Given the description of an element on the screen output the (x, y) to click on. 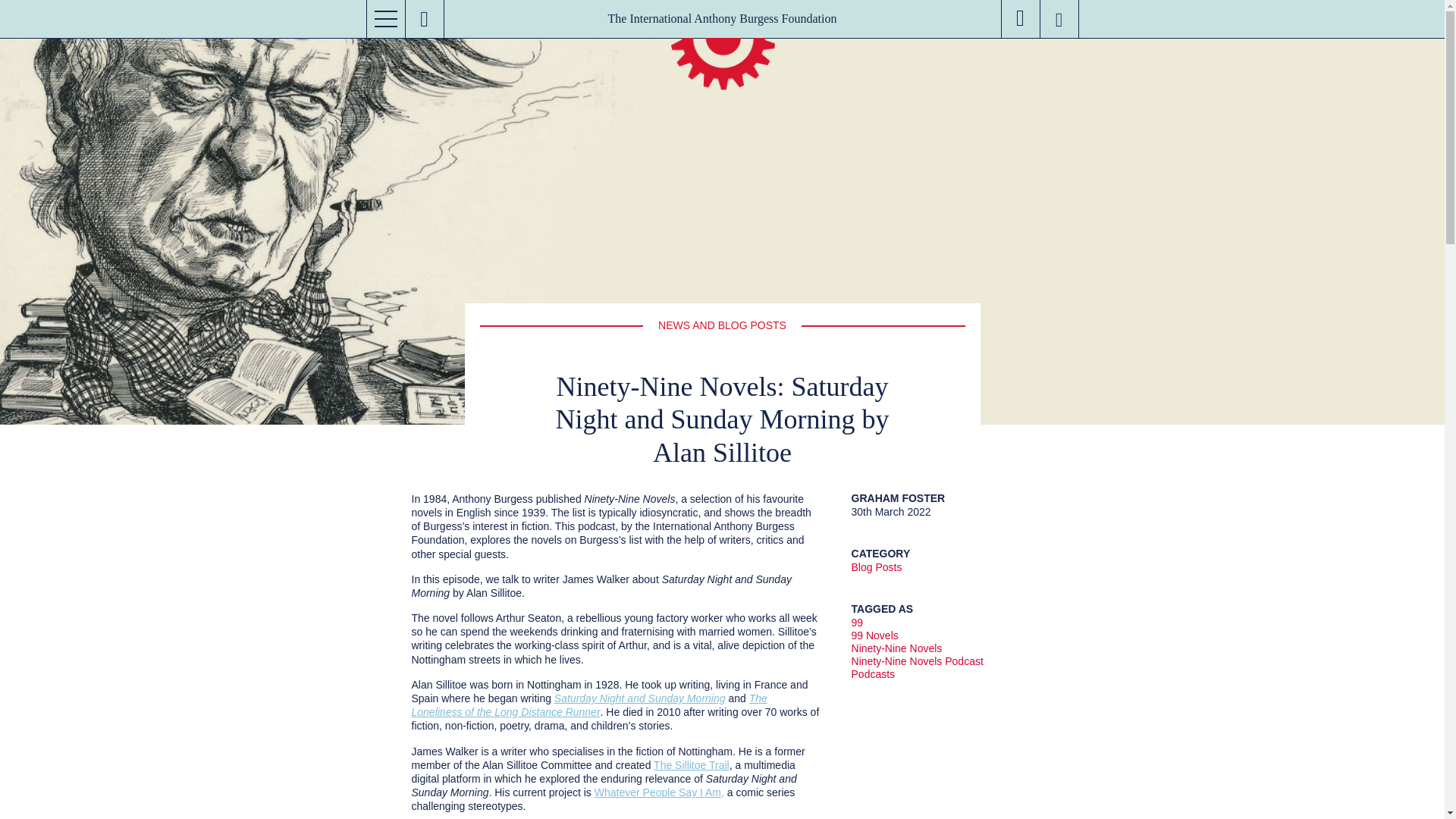
The International Anthony Burgess Foundation (722, 19)
